Given the description of an element on the screen output the (x, y) to click on. 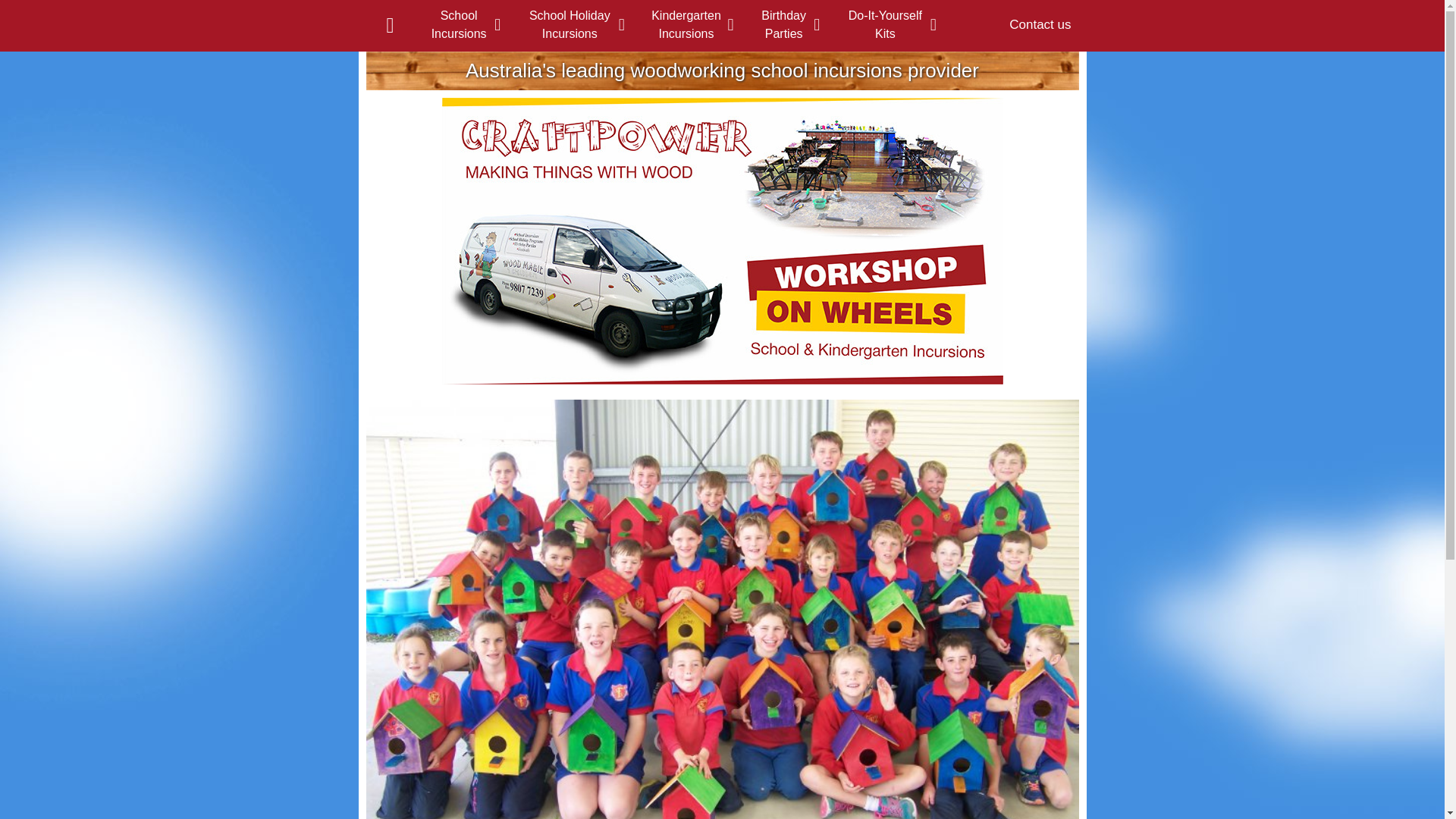
Do-It-Yourself Kits Element type: text (885, 24)
School Holiday Incursions Element type: text (569, 24)
Contact us Element type: text (1039, 25)
School Incursions Element type: text (458, 24)
Kindergarten Incursions Element type: text (685, 24)
Skip to main content Element type: text (694, 52)
Birthday Parties Element type: text (783, 24)
Fun with woodwork starts here... Element type: hover (721, 240)
